Given the description of an element on the screen output the (x, y) to click on. 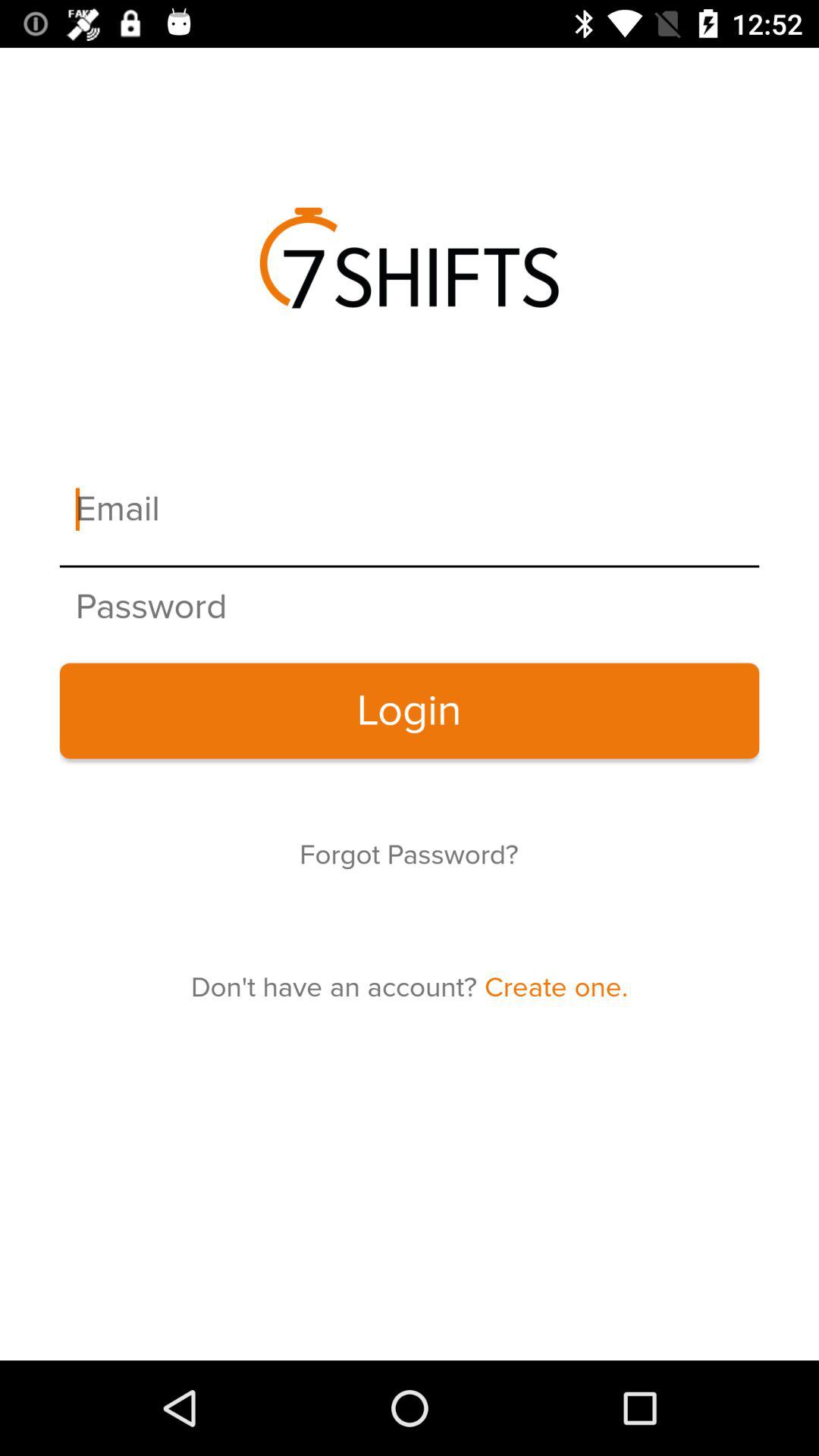
an empty field that you type your password into (409, 607)
